Given the description of an element on the screen output the (x, y) to click on. 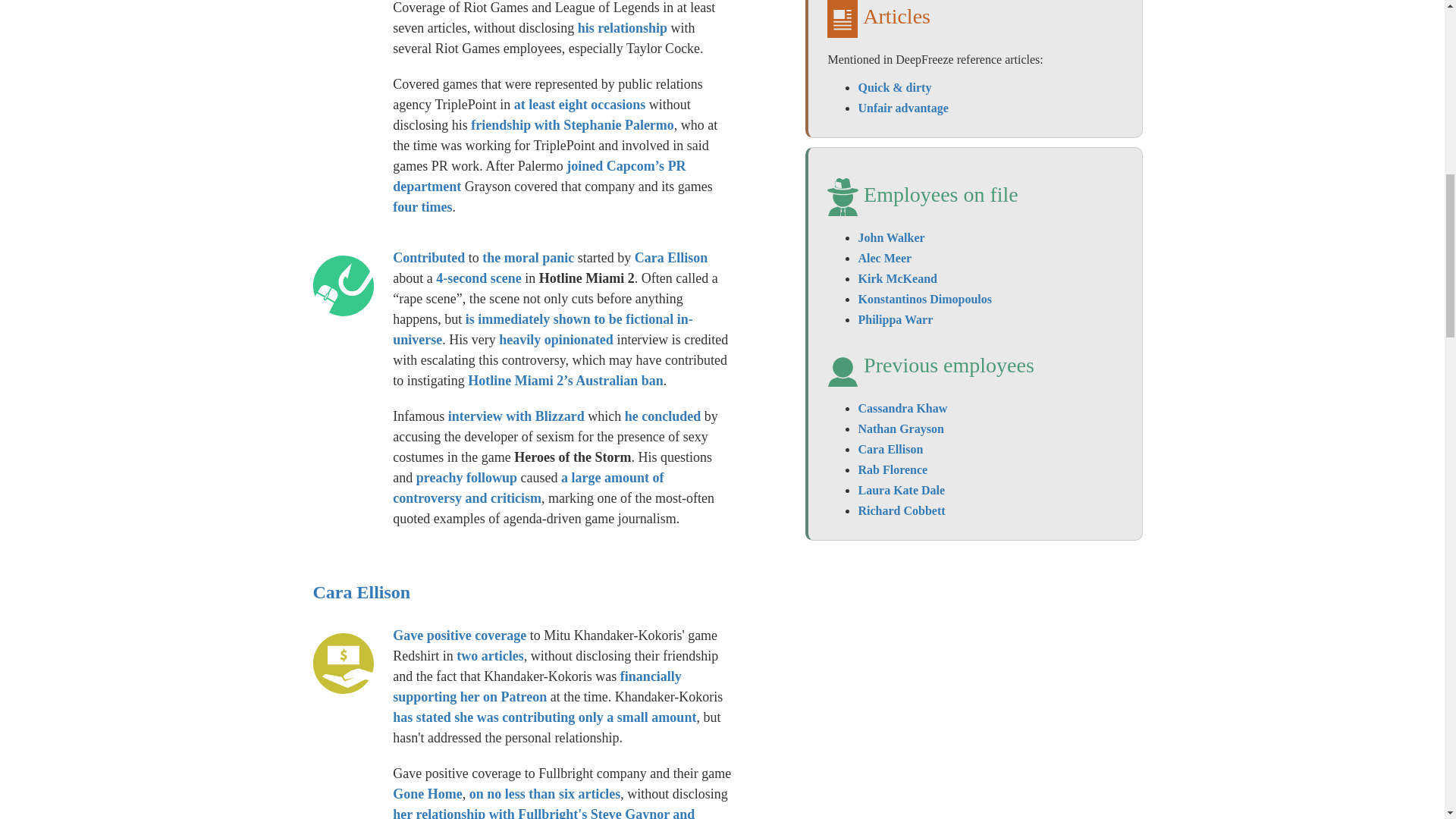
friendship with Stephanie Palermo (572, 124)
four times (422, 206)
his relationship (622, 28)
Sensationalism (343, 285)
at least eight occasions (579, 104)
Corruption (343, 663)
